Given the description of an element on the screen output the (x, y) to click on. 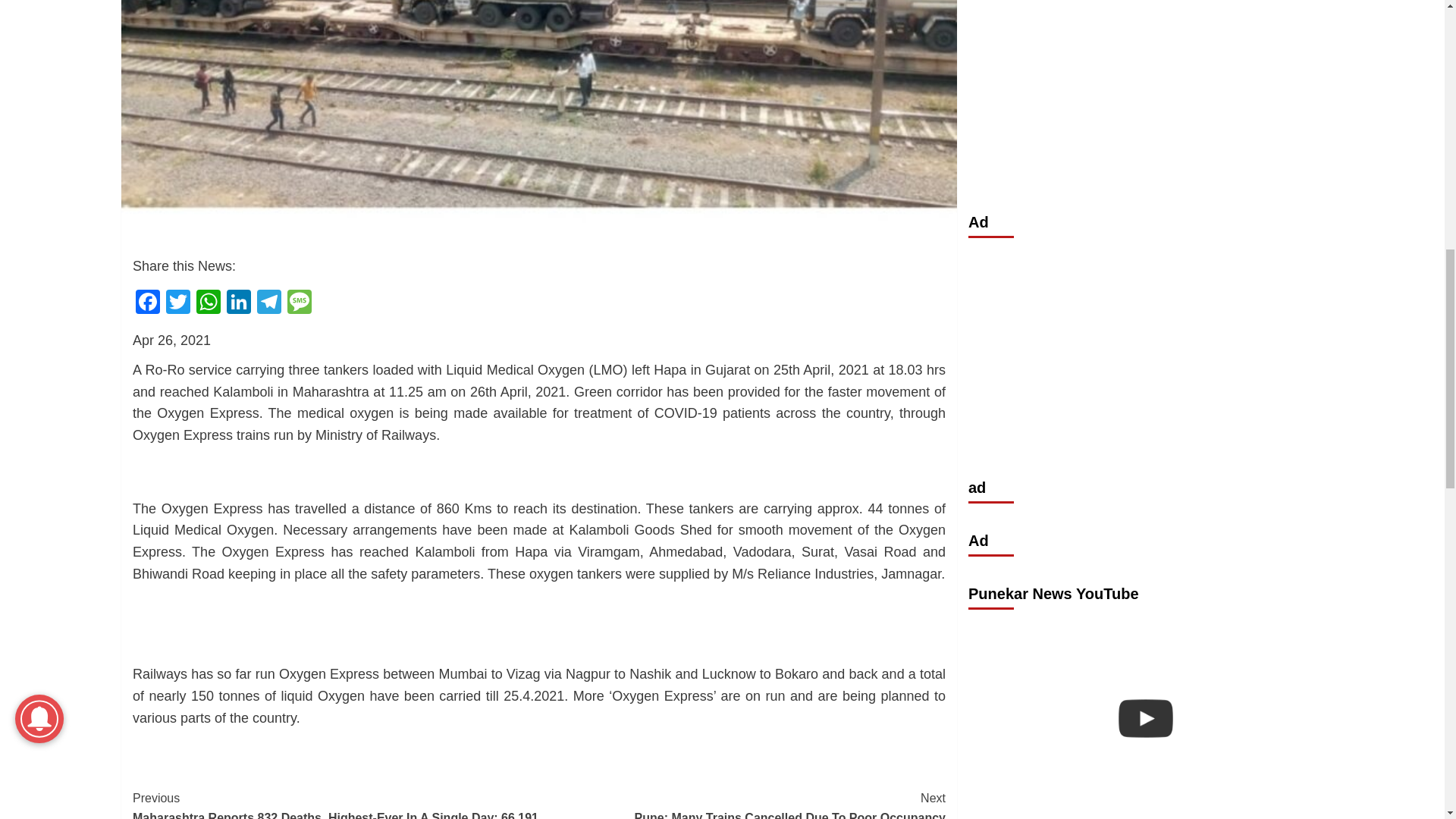
Advertisement (1145, 78)
LinkedIn (238, 303)
Twitter (178, 303)
WhatsApp (208, 303)
LinkedIn (238, 303)
Telegram (268, 303)
Facebook (147, 303)
Message (298, 303)
Twitter (178, 303)
